Given the description of an element on the screen output the (x, y) to click on. 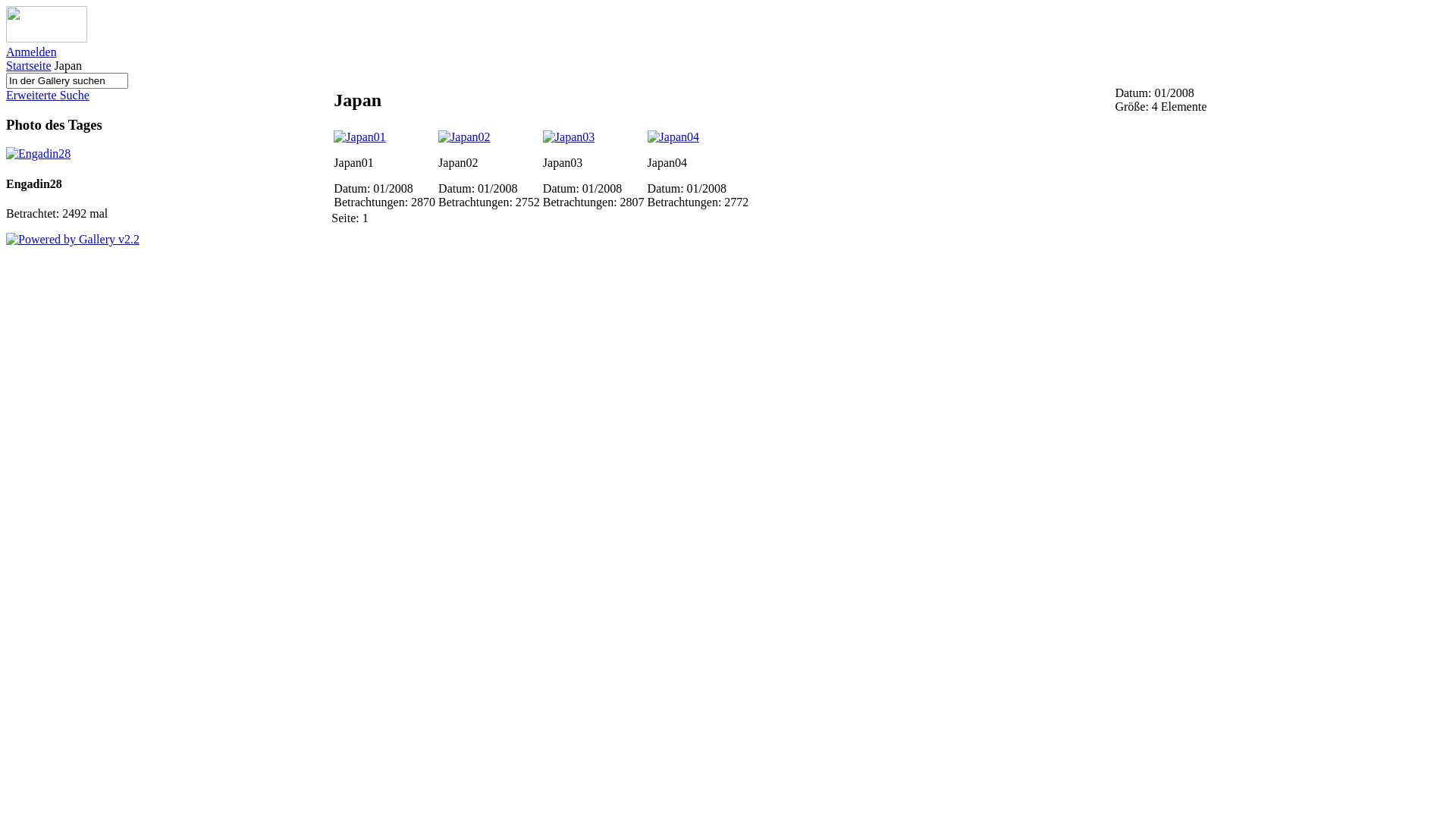
Powered by Gallery v2.2 Element type: hover (72, 239)
Startseite Element type: text (28, 65)
Erweiterte Suche Element type: text (47, 94)
Anmelden Element type: text (31, 51)
